Given the description of an element on the screen output the (x, y) to click on. 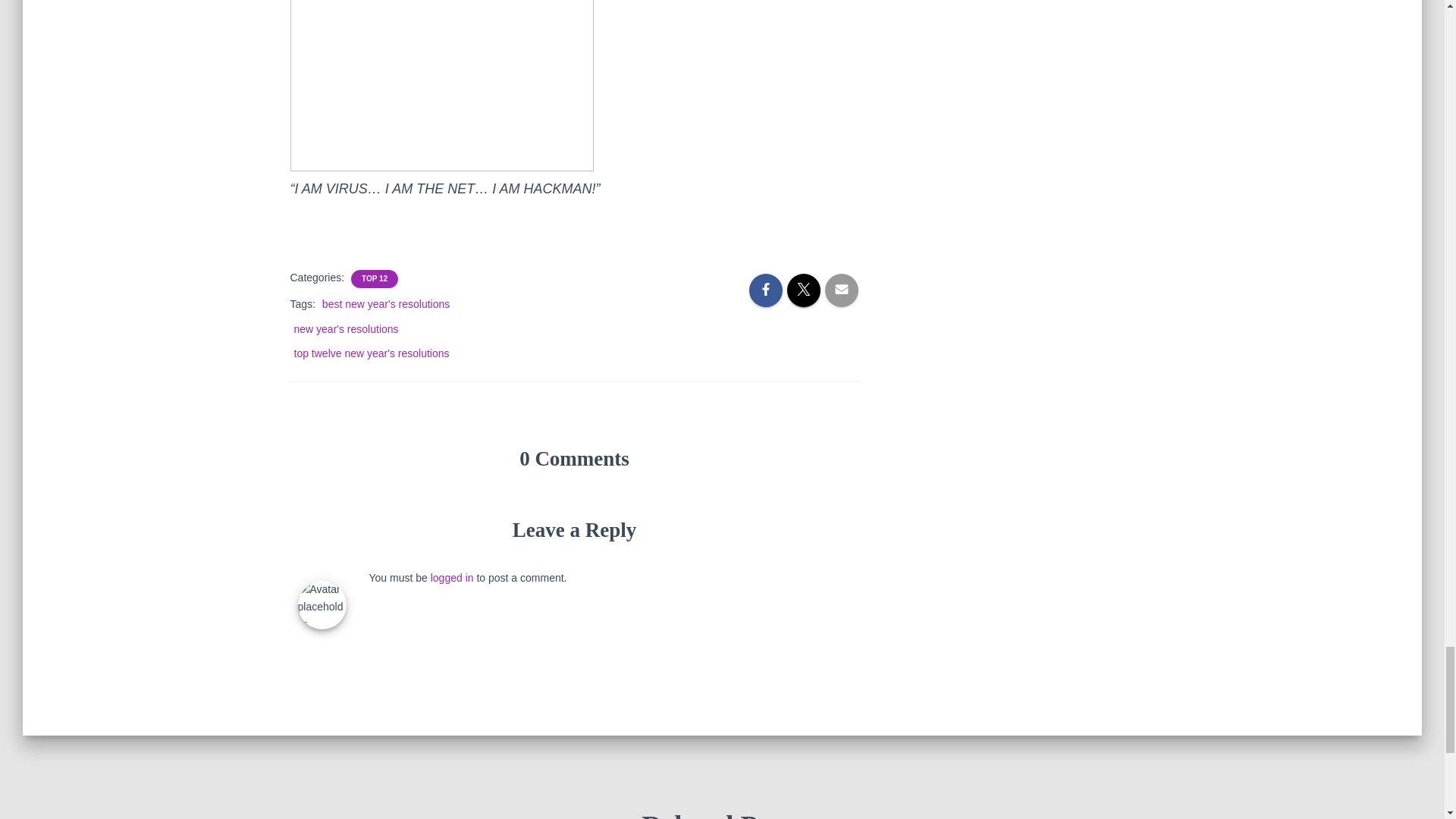
best new year's resolutions (385, 304)
TOP 12 (373, 278)
new year's resolutions (346, 328)
logged in (452, 577)
top twelve new year's resolutions (371, 353)
